Given the description of an element on the screen output the (x, y) to click on. 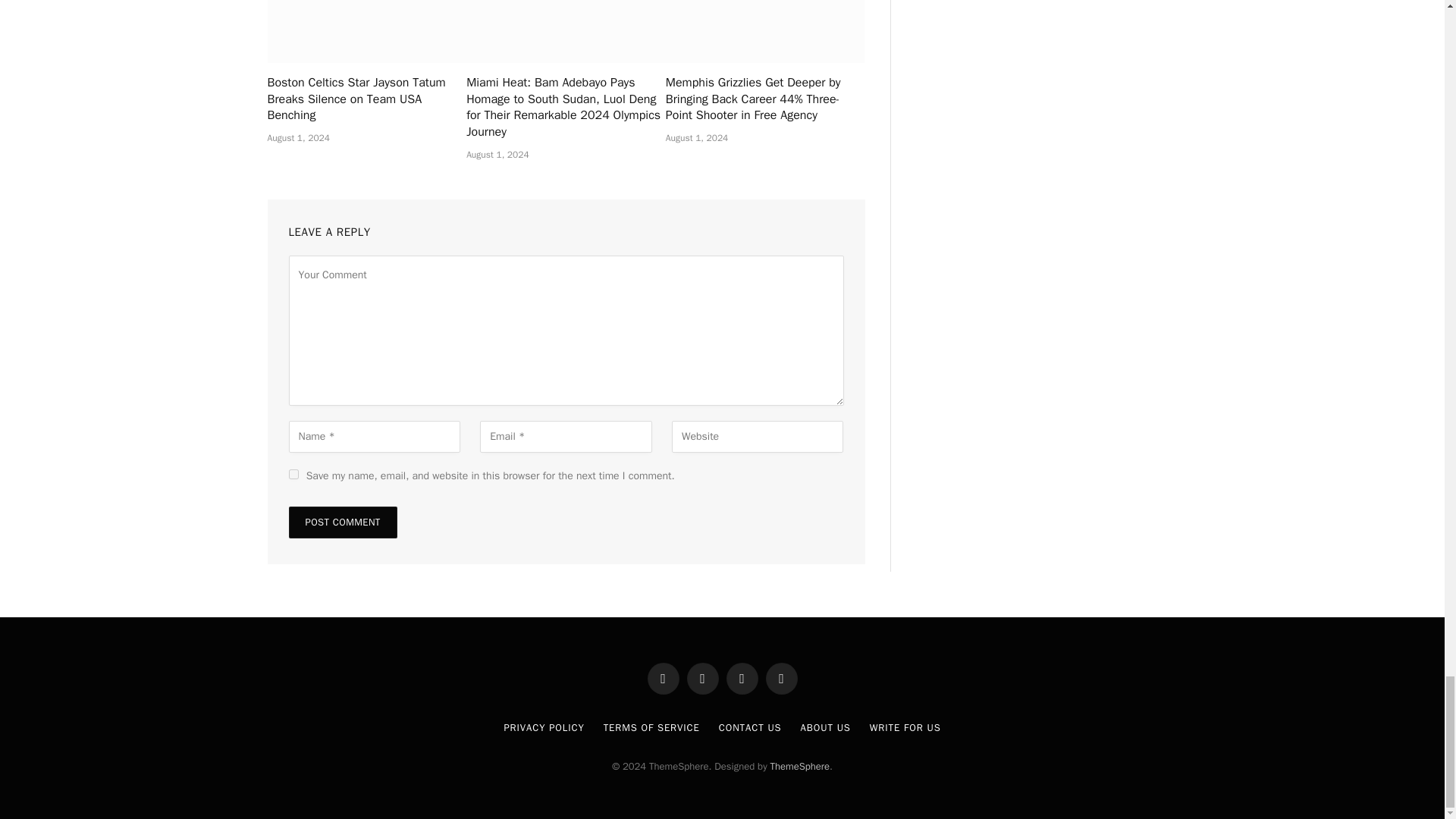
yes (293, 474)
Post Comment (342, 522)
